Given the description of an element on the screen output the (x, y) to click on. 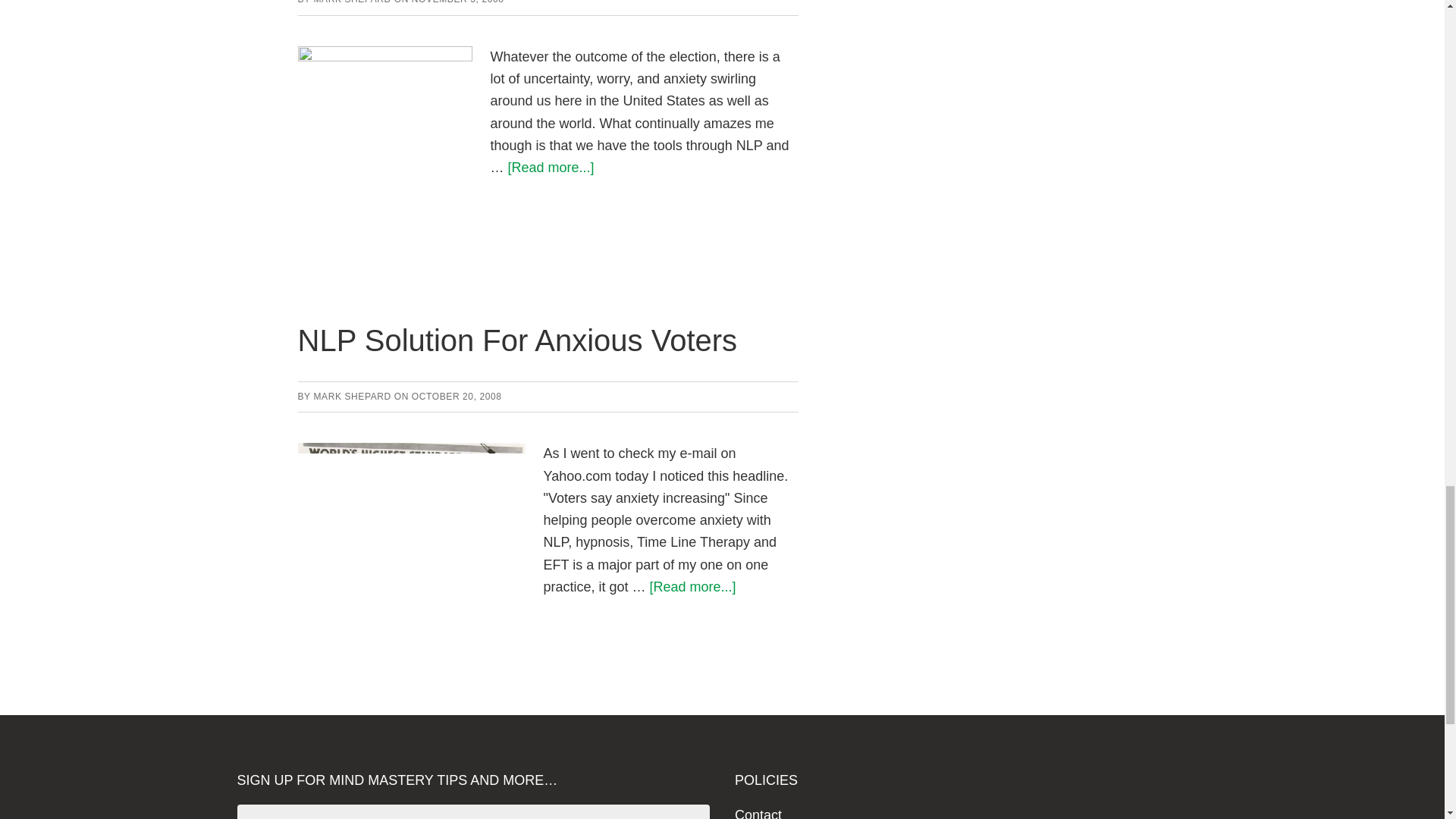
NLP Solution For Anxious Voters (516, 340)
MARK SHEPARD (351, 2)
MARK SHEPARD (351, 396)
